Given the description of an element on the screen output the (x, y) to click on. 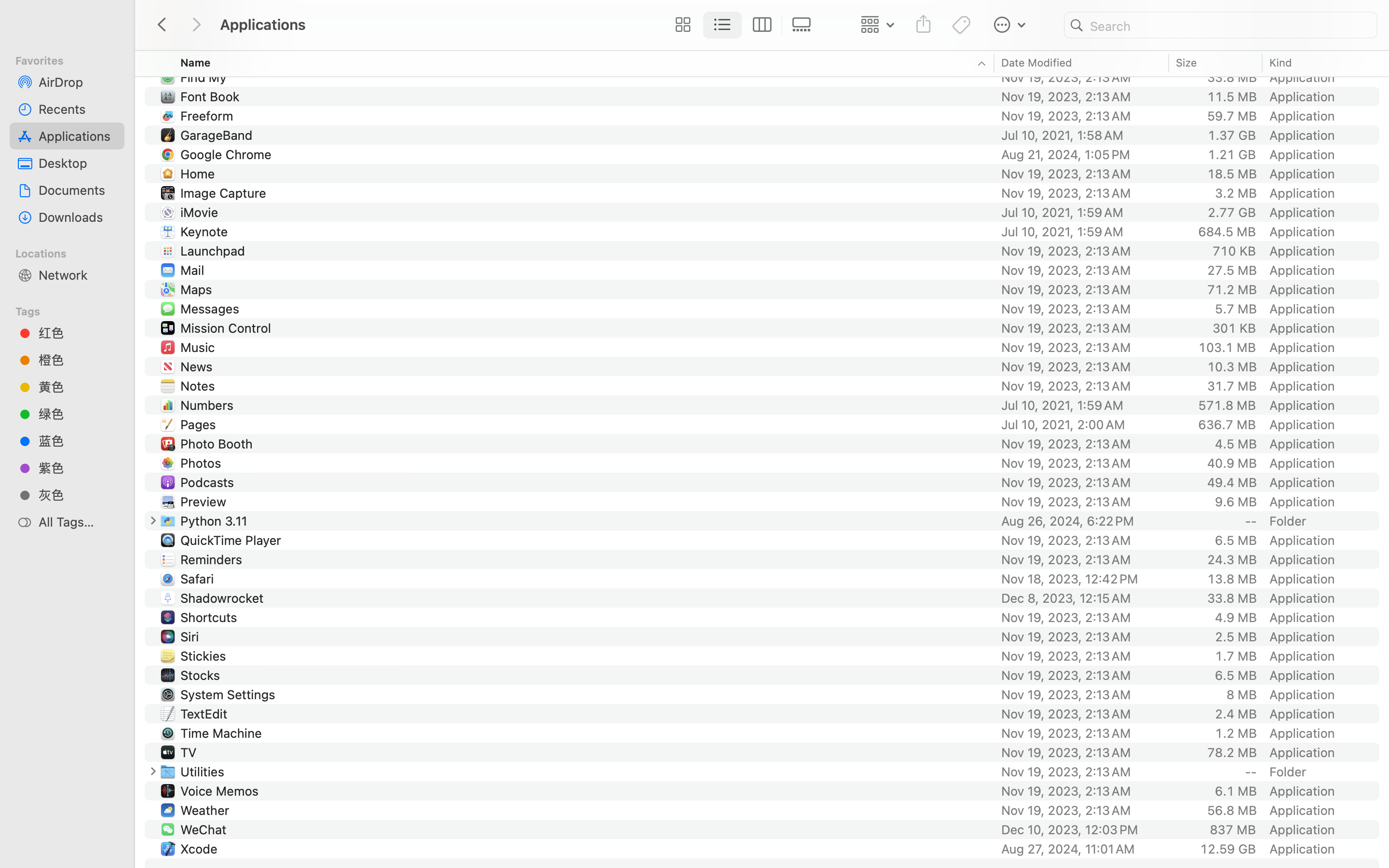
TV Element type: AXTextField (190, 751)
Size Element type: AXStaticText (1186, 62)
Numbers Element type: AXTextField (209, 404)
Nov 18, 2023, 12:42 PM Element type: AXStaticText (1081, 578)
Locations Element type: AXStaticText (72, 252)
